Given the description of an element on the screen output the (x, y) to click on. 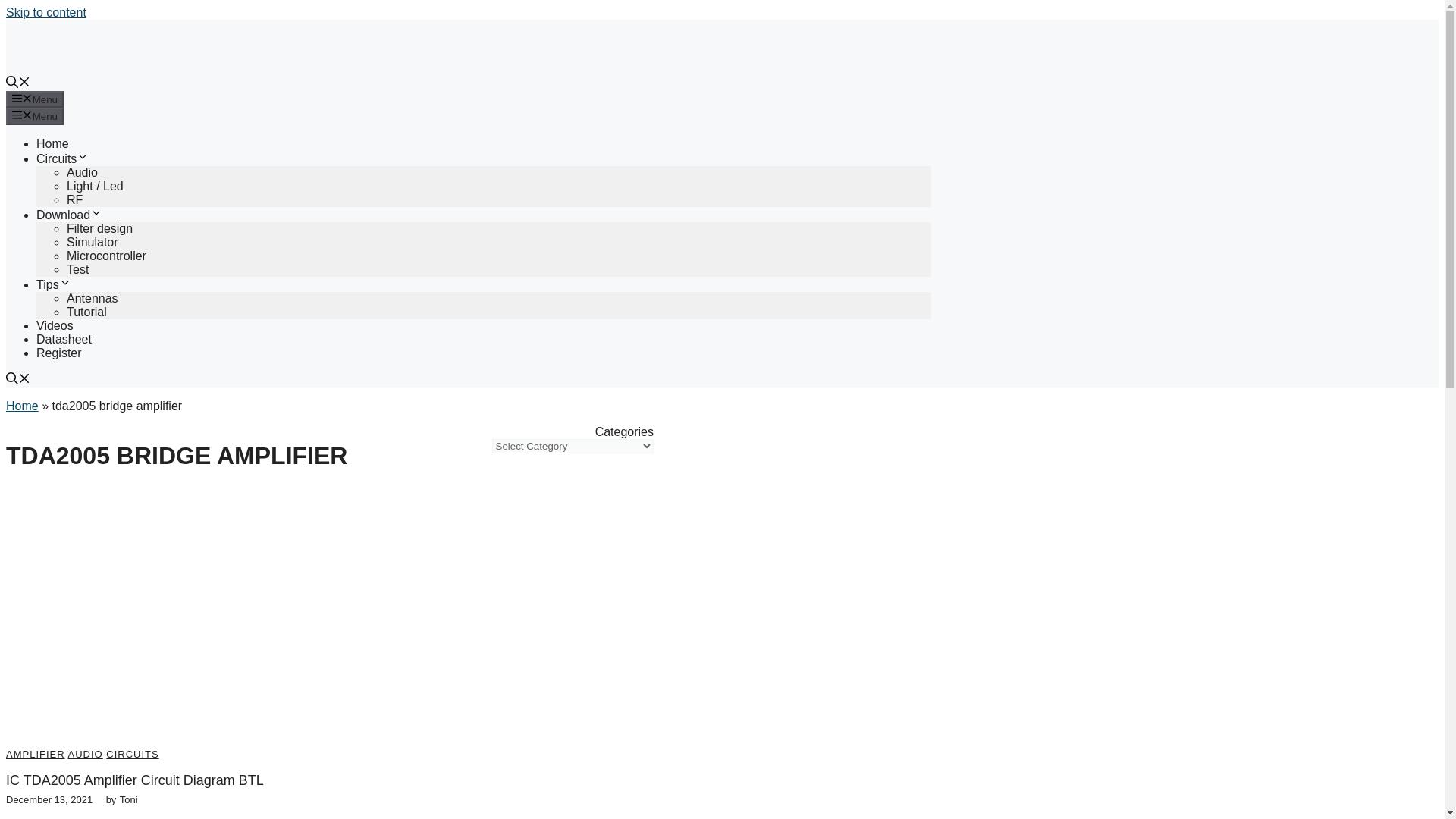
Circuits (62, 158)
Skip to content (45, 11)
Home (52, 143)
AMPLIFIER (35, 754)
IC TDA2005 Amplifier Circuit Diagram BTL (134, 780)
Audio (81, 172)
CIRCUITS (132, 754)
Tips (53, 284)
Antennas (91, 297)
Menu (34, 115)
Microcontroller (106, 255)
Register (58, 352)
AUDIO (85, 754)
RF (74, 199)
Skip to content (45, 11)
